Given the description of an element on the screen output the (x, y) to click on. 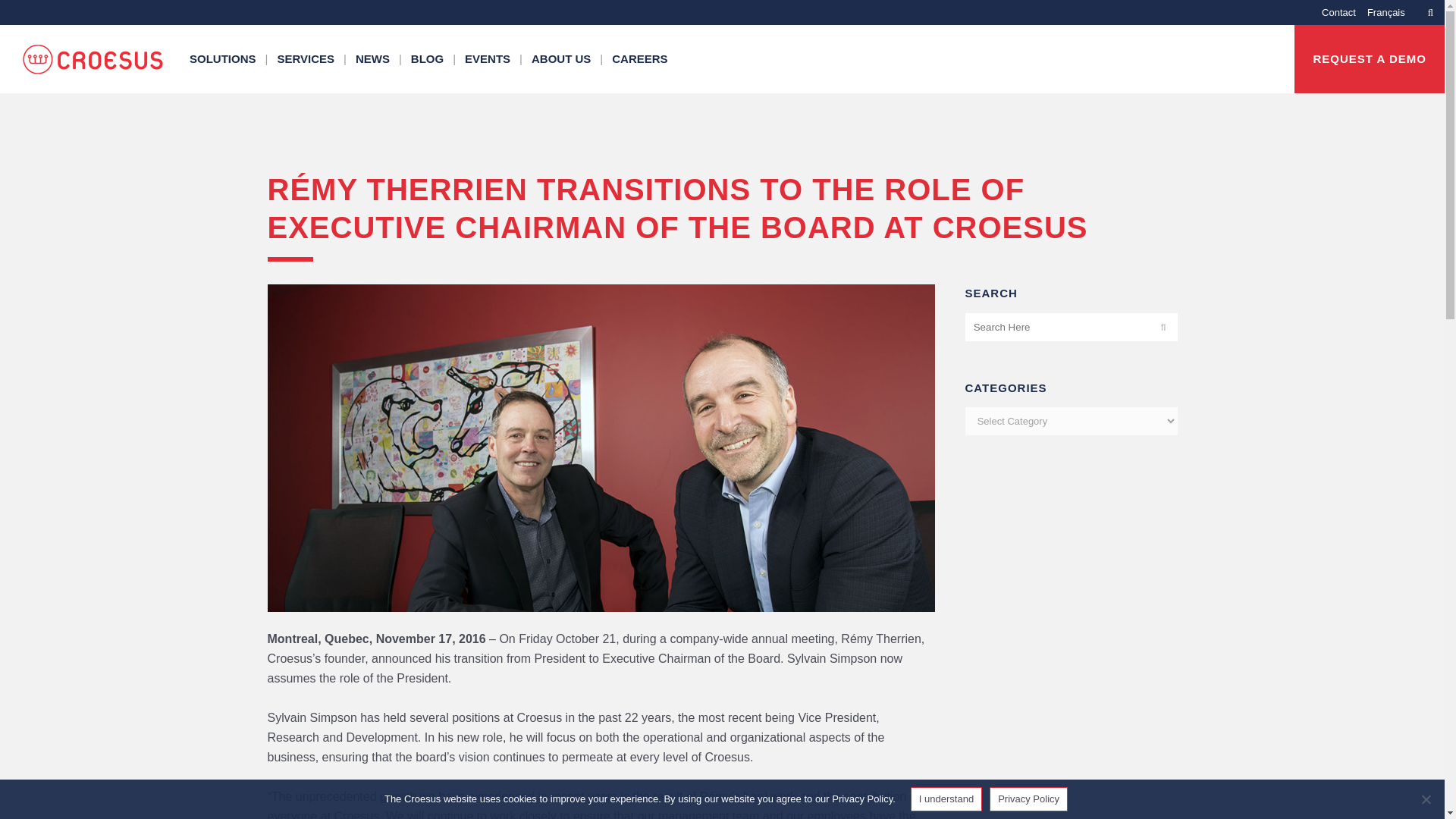
Contact (1332, 12)
Non (1425, 798)
SOLUTIONS (224, 59)
EVENTS (489, 59)
ABOUT US (562, 59)
SERVICES (307, 59)
